Given the description of an element on the screen output the (x, y) to click on. 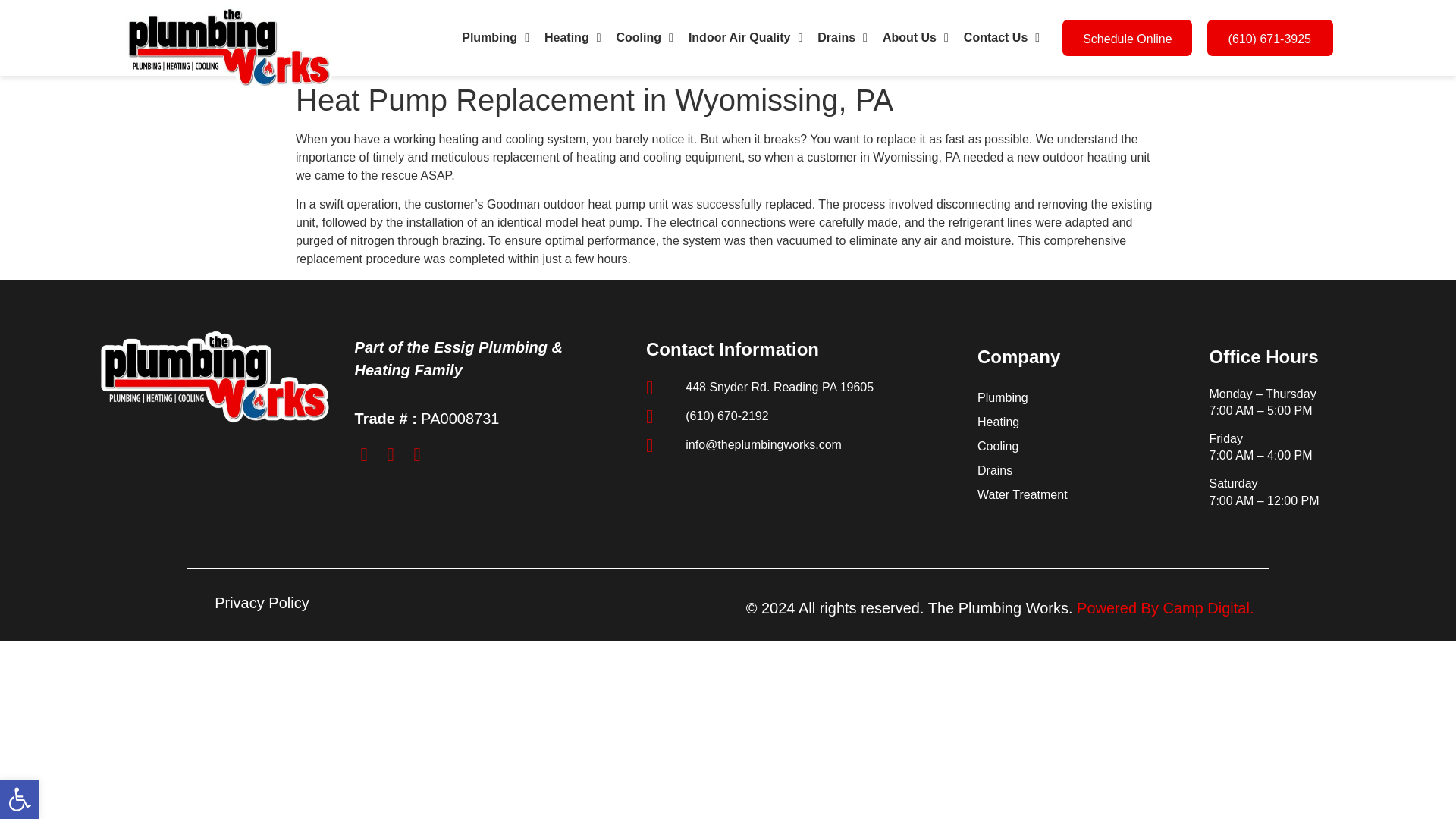
Indoor Air Quality (745, 38)
Plumbing (495, 38)
Heating (572, 38)
Cooling (643, 38)
